Given the description of an element on the screen output the (x, y) to click on. 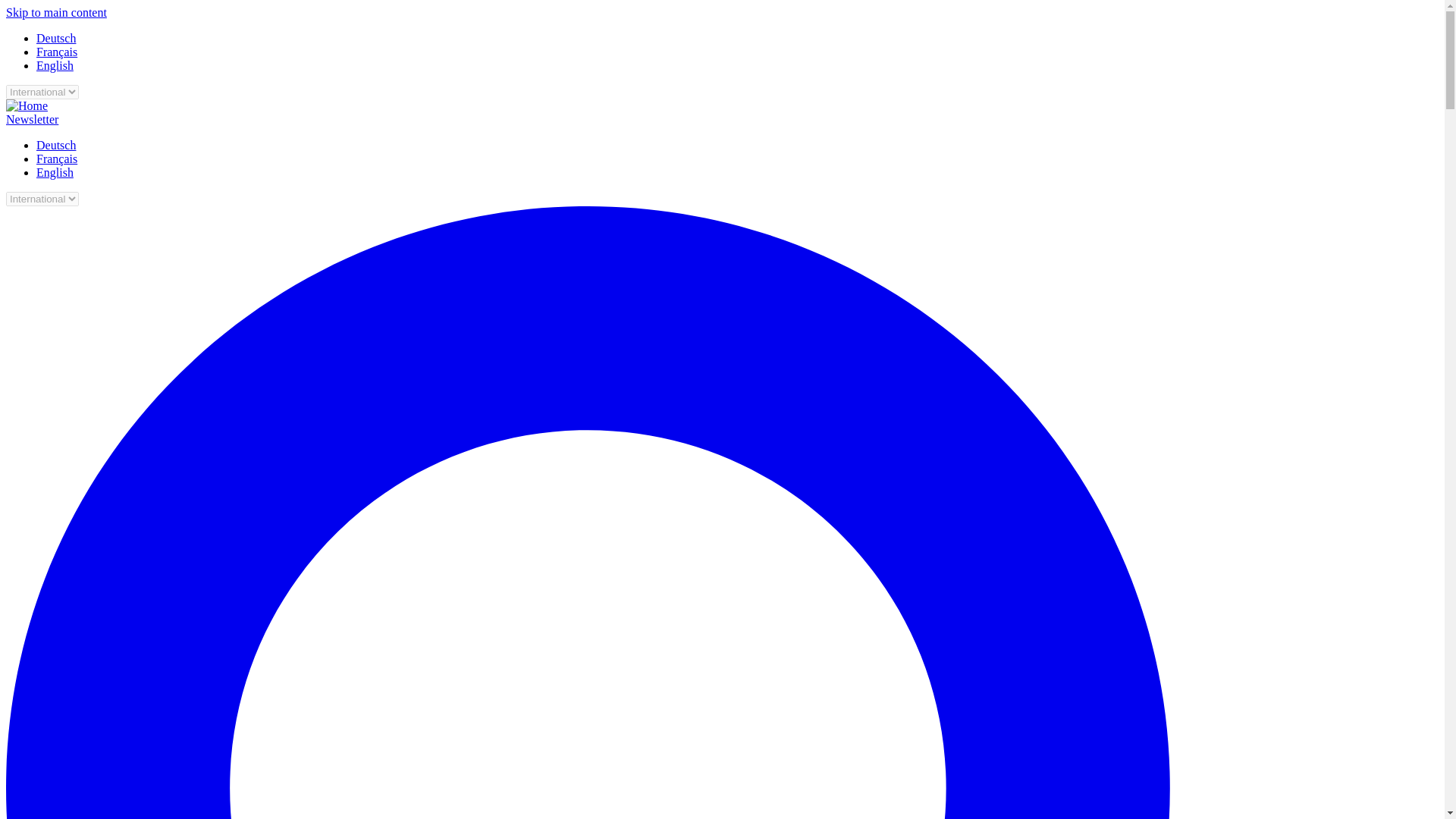
English (55, 172)
Deutsch (55, 144)
English (55, 65)
Newsletter (31, 119)
Skip to main content (55, 11)
Deutsch (55, 38)
